Given the description of an element on the screen output the (x, y) to click on. 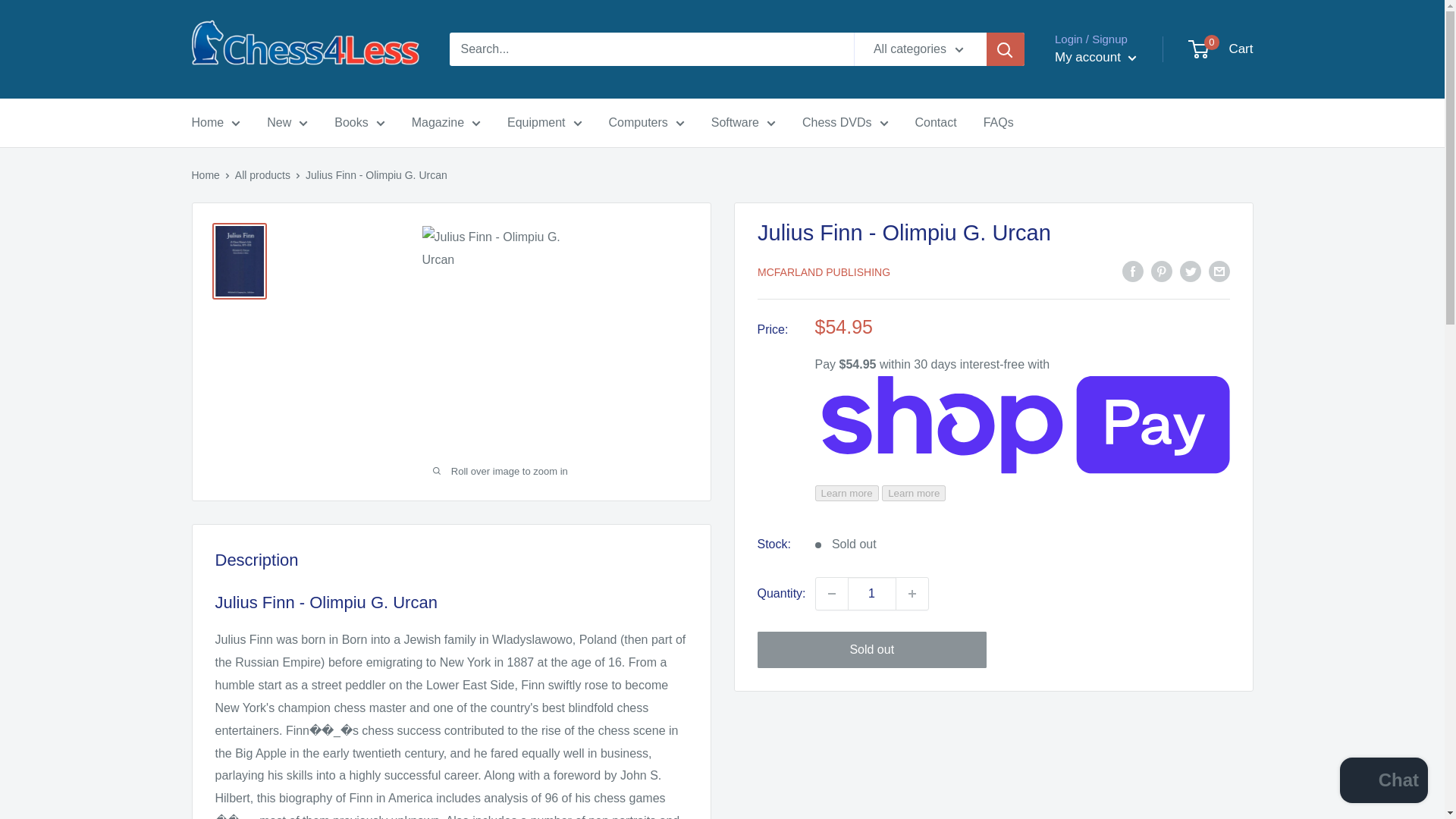
Increase quantity by 1 (912, 593)
1 (871, 593)
Decrease quantity by 1 (831, 593)
Shopify online store chat (1383, 781)
